Given the description of an element on the screen output the (x, y) to click on. 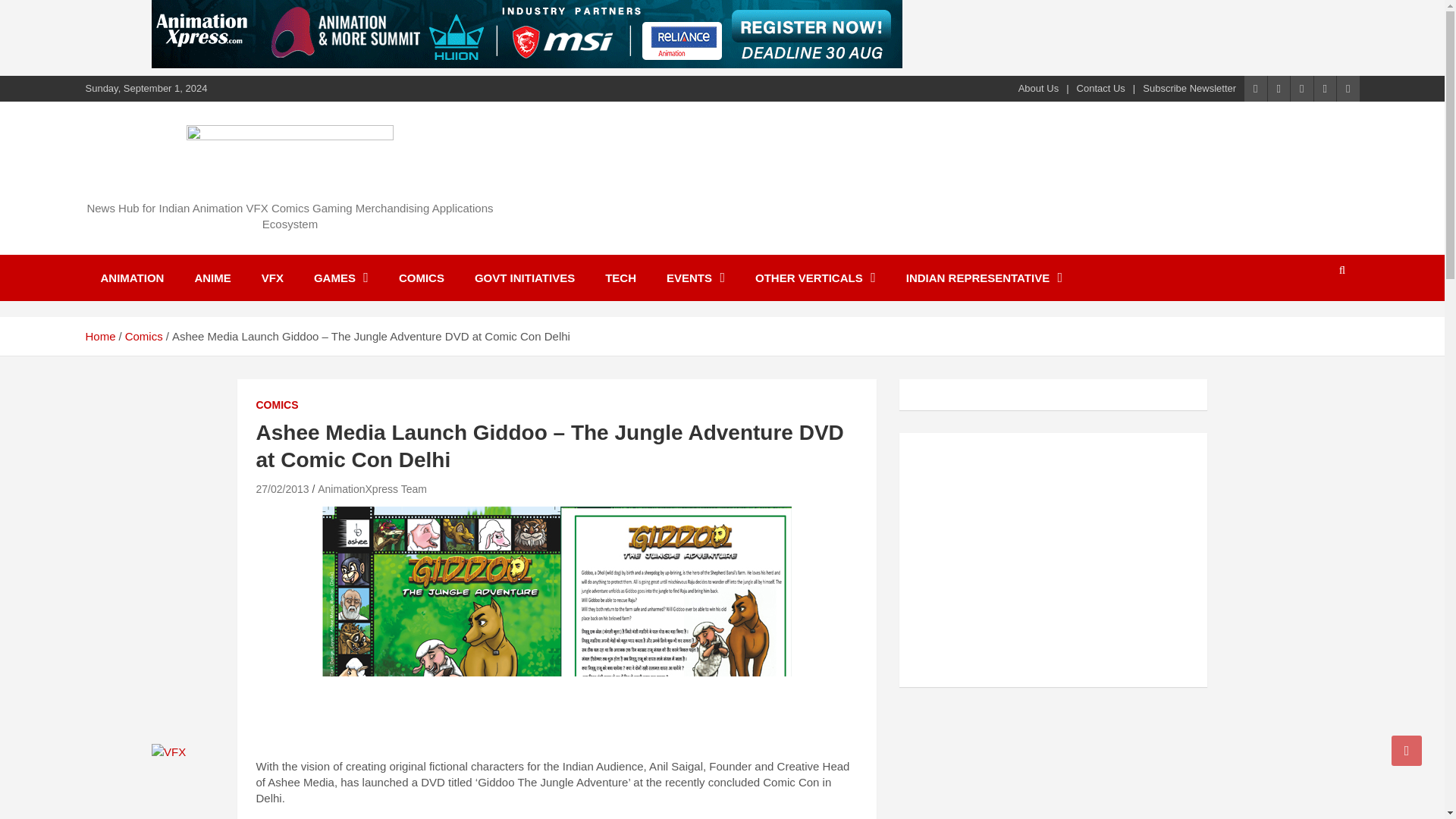
GAMES (341, 277)
COMICS (422, 277)
ANIME (212, 277)
About Us (1037, 88)
ANIMATION (131, 277)
VFX (272, 277)
GOVT INITIATIVES (524, 277)
YouTube video player (1024, 557)
Contact Us (1101, 88)
Go to Top (1406, 750)
